Given the description of an element on the screen output the (x, y) to click on. 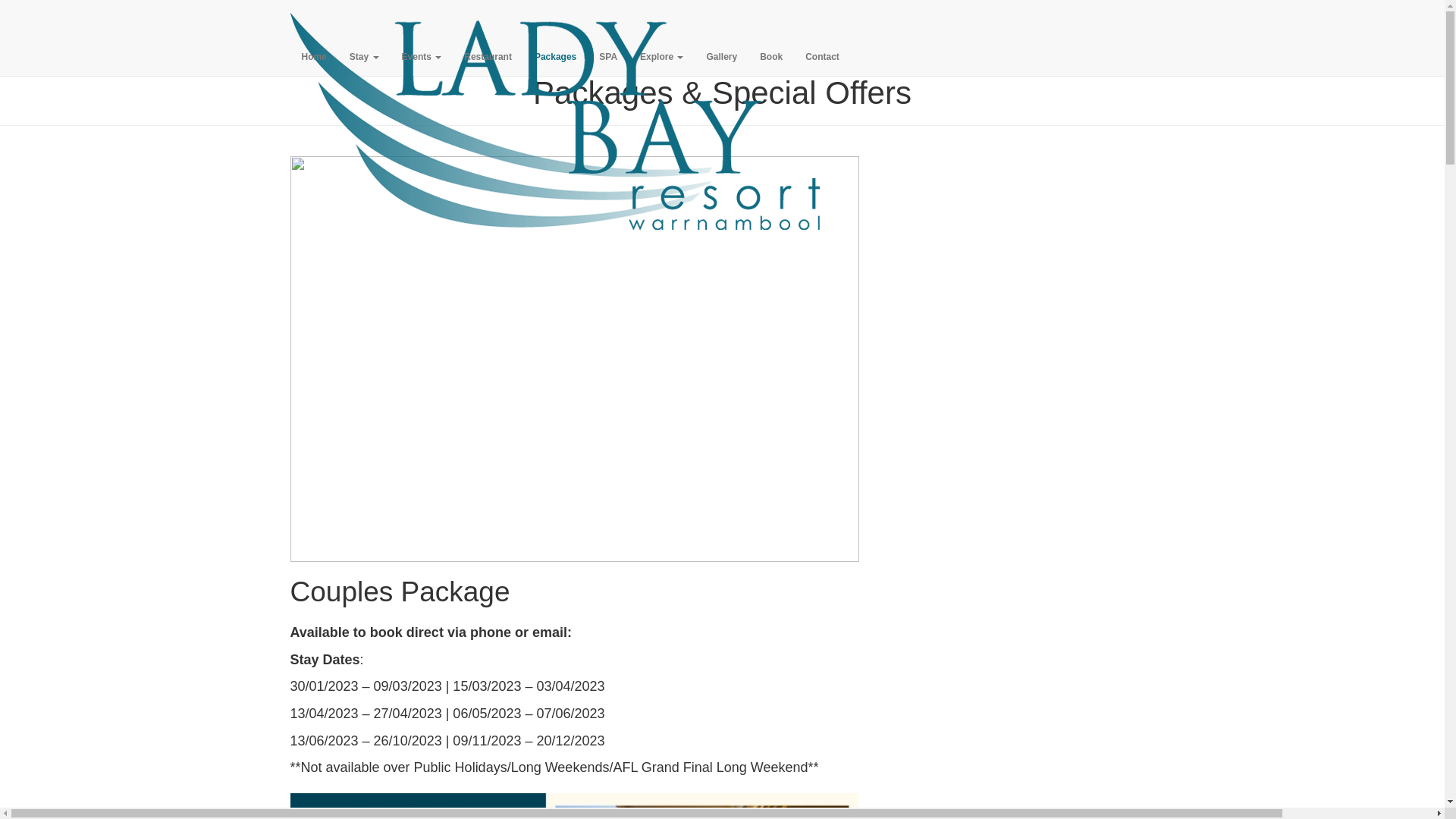
Stay Element type: text (364, 56)
Gallery Element type: text (721, 56)
03 5562 1662 Element type: text (499, 15)
Lady Bay Resort Element type: hover (555, 18)
Contact Element type: text (821, 56)
SPA Element type: text (607, 56)
Home Element type: text (313, 56)
Events Element type: text (421, 56)
Restaurant Element type: text (487, 56)
Book Element type: text (770, 56)
Packages Element type: text (555, 56)
Explore Element type: text (661, 56)
